Given the description of an element on the screen output the (x, y) to click on. 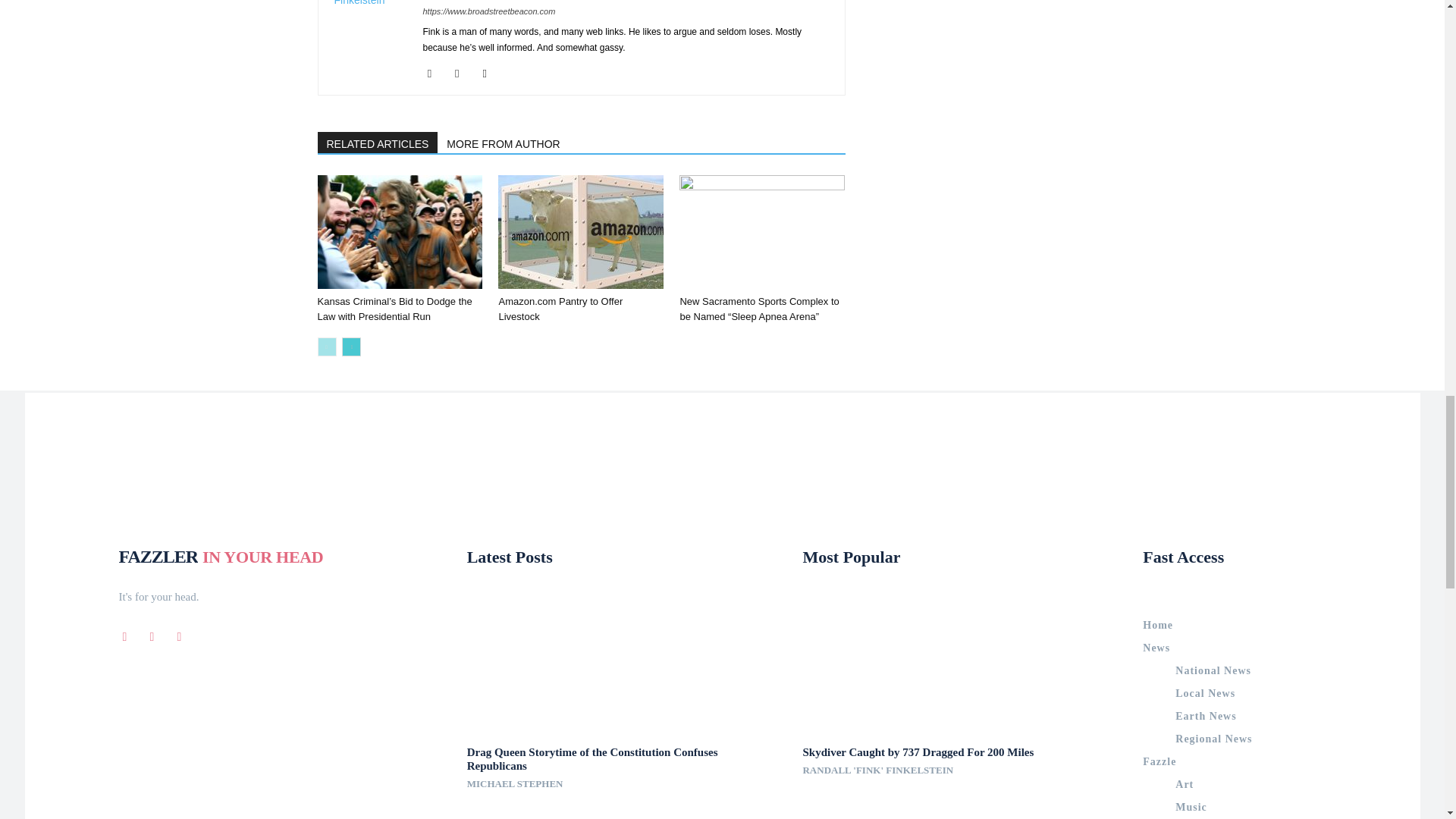
Amazon.com Pantry to Offer Livestock (580, 232)
Twitter (489, 73)
Facebook (435, 73)
Instagram (462, 73)
